Given the description of an element on the screen output the (x, y) to click on. 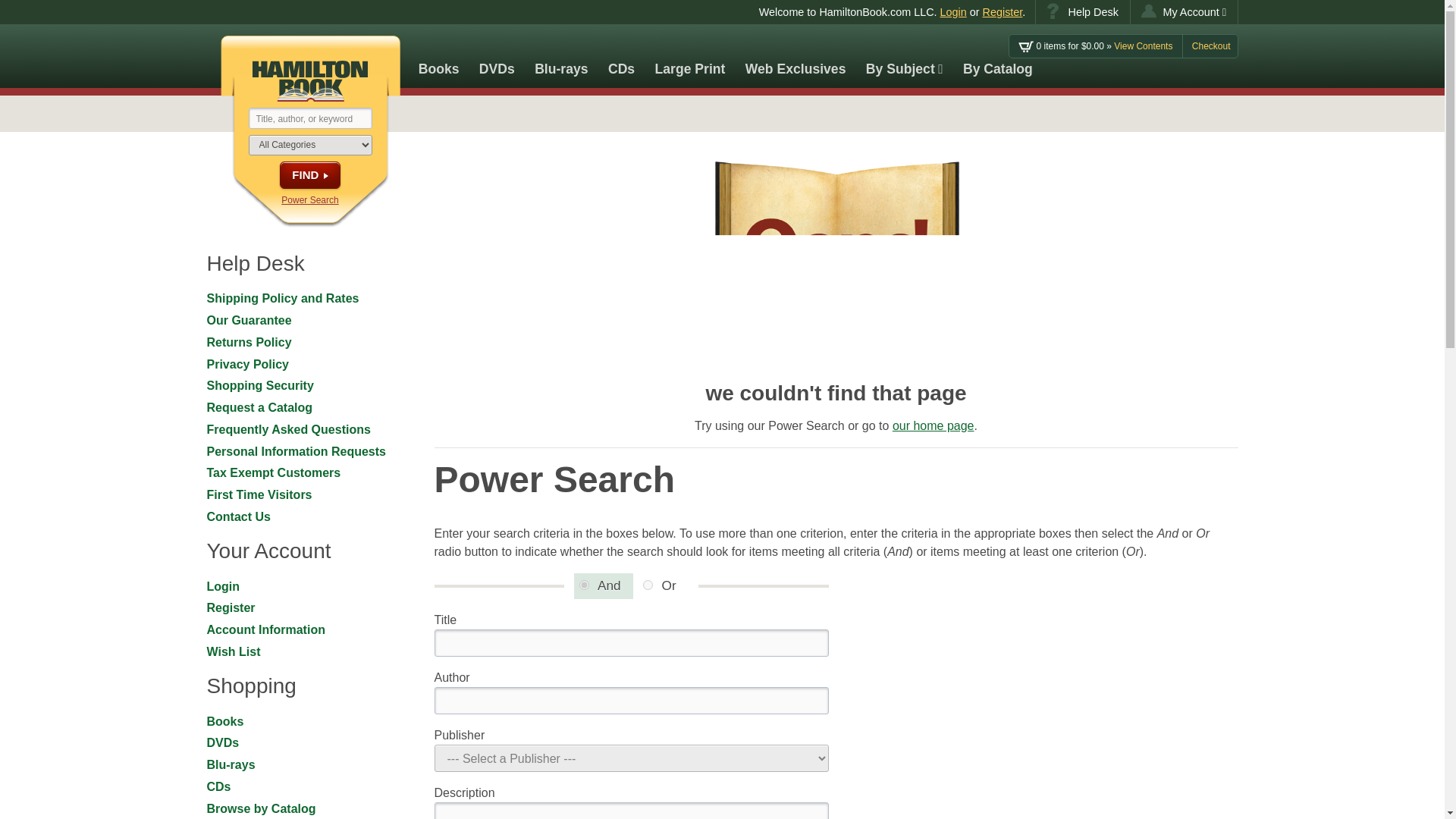
Login (953, 11)
Large Print (690, 55)
Account Icon My Account (1184, 12)
By Subject (904, 55)
or (647, 584)
and (584, 584)
FIND (309, 175)
Power Search (309, 199)
Account Icon (1148, 10)
Blu-rays (561, 55)
